Given the description of an element on the screen output the (x, y) to click on. 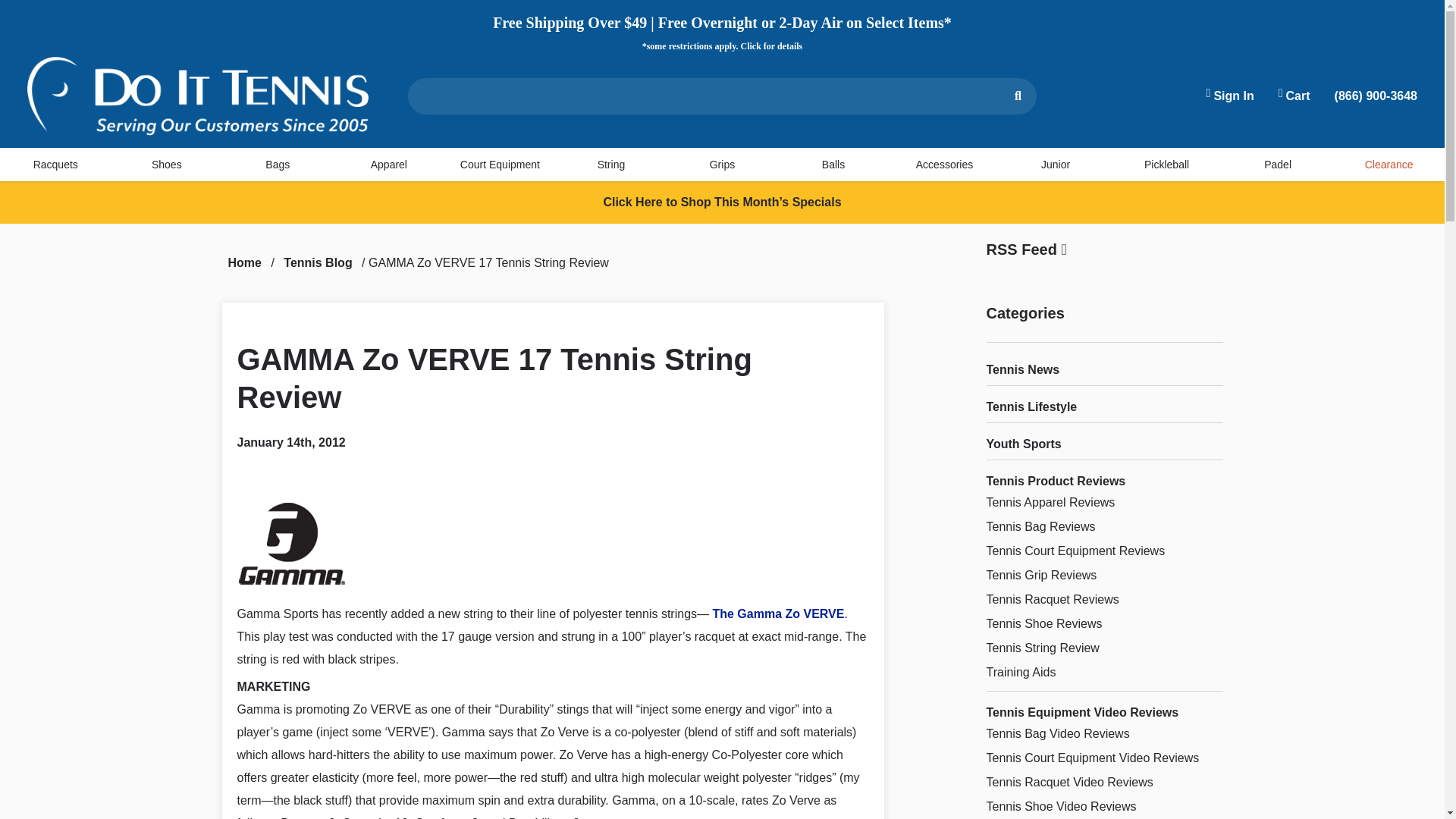
Sign In (1230, 95)
Racquets (55, 163)
Click for details (770, 45)
Cart (1294, 95)
